Given the description of an element on the screen output the (x, y) to click on. 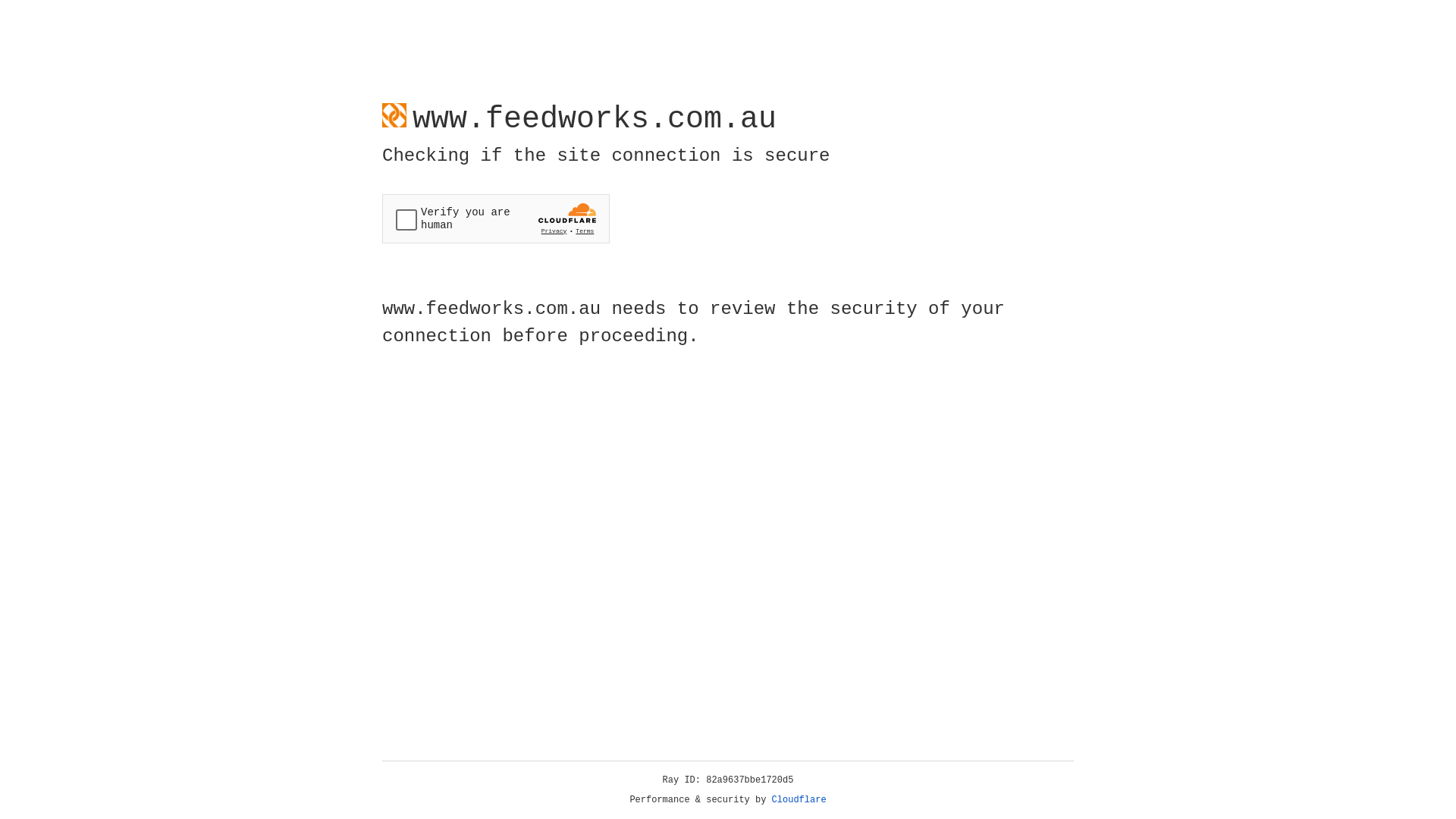
Cloudflare Element type: text (798, 799)
Widget containing a Cloudflare security challenge Element type: hover (495, 218)
